Given the description of an element on the screen output the (x, y) to click on. 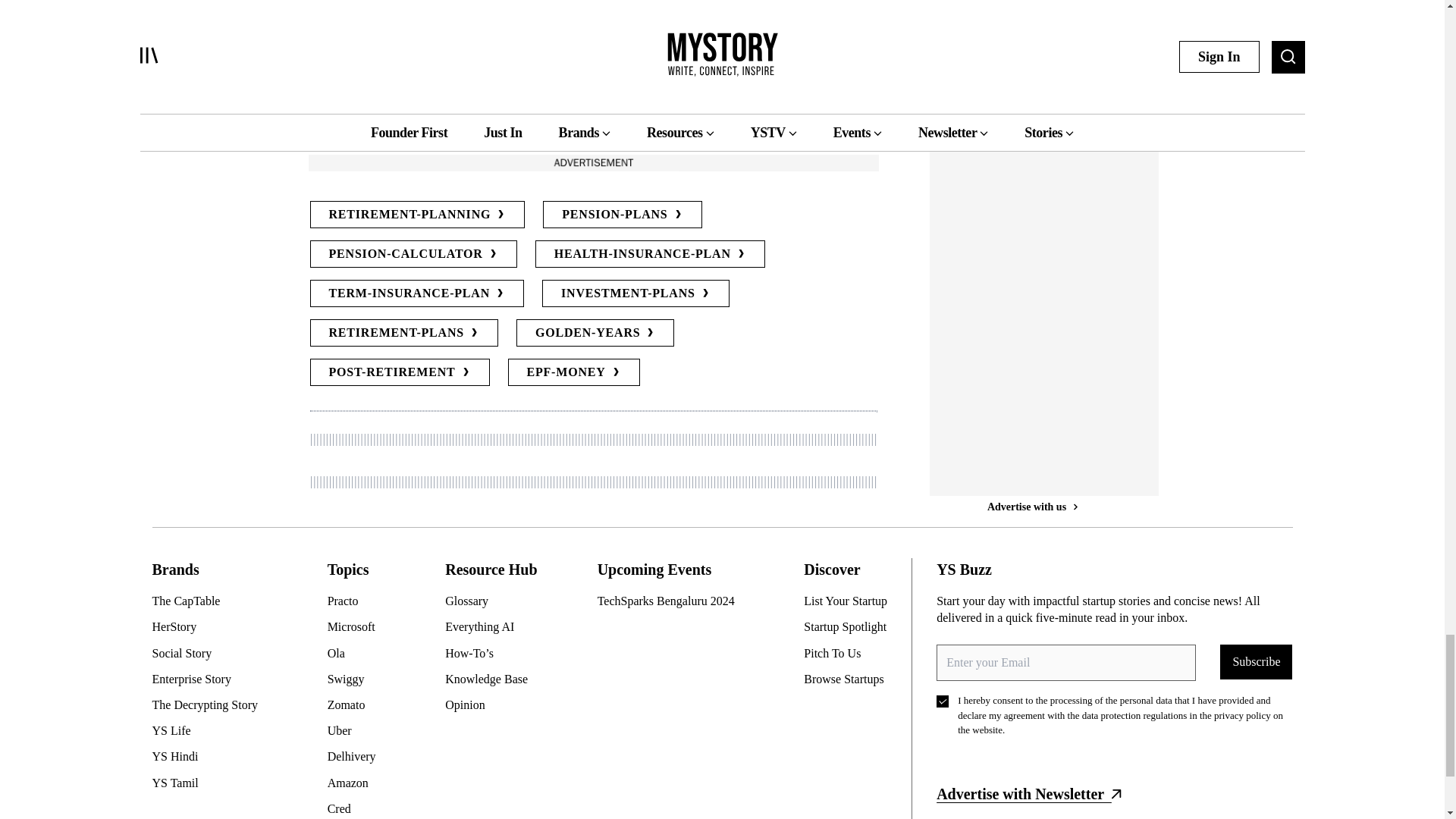
RETIREMENT-PLANNING (416, 214)
GOLDEN-YEARS (595, 332)
RETIREMENT-PLANS (402, 332)
EPF-MONEY (574, 371)
TERM-INSURANCE-PLAN (416, 293)
Advertise with us (592, 162)
PENSION-CALCULATOR (412, 253)
POST-RETIREMENT (398, 371)
PENSION-PLANS (622, 214)
INVESTMENT-PLANS (635, 293)
